Given the description of an element on the screen output the (x, y) to click on. 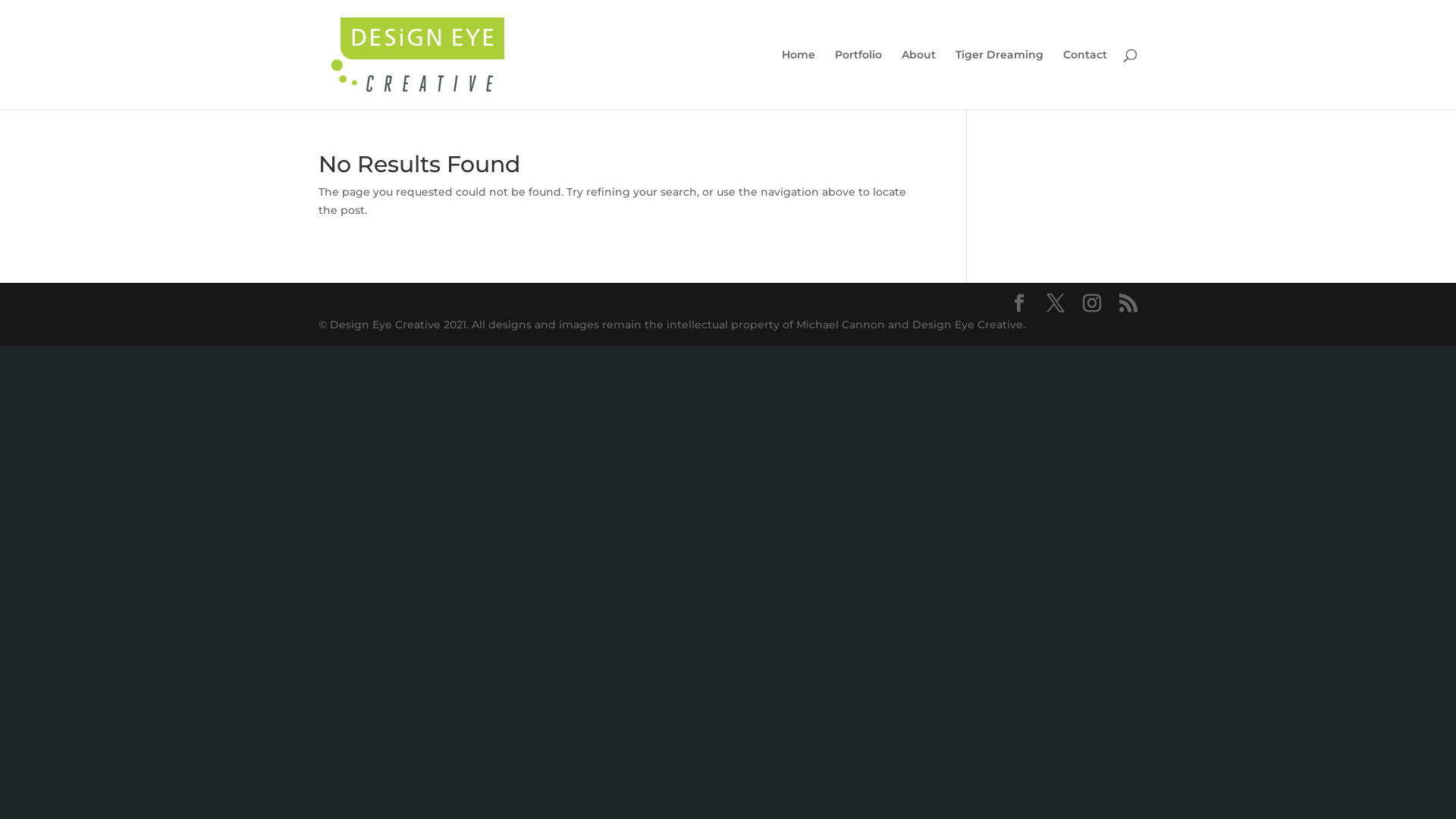
Portfolio Element type: text (857, 79)
About Element type: text (918, 79)
Contact Element type: text (1085, 79)
Home Element type: text (798, 79)
Tiger Dreaming Element type: text (999, 79)
